Given the description of an element on the screen output the (x, y) to click on. 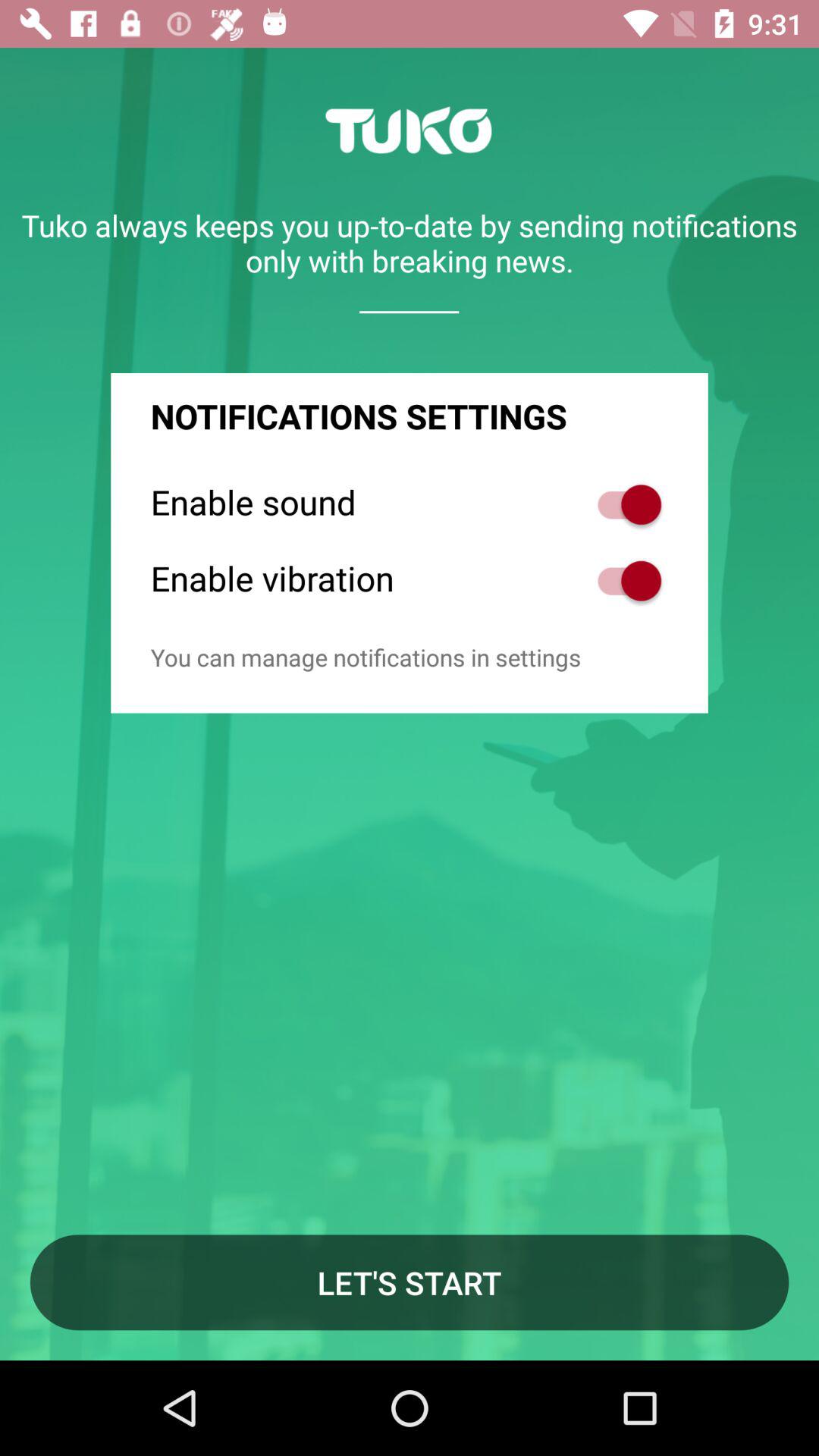
switch vibration (621, 580)
